Given the description of an element on the screen output the (x, y) to click on. 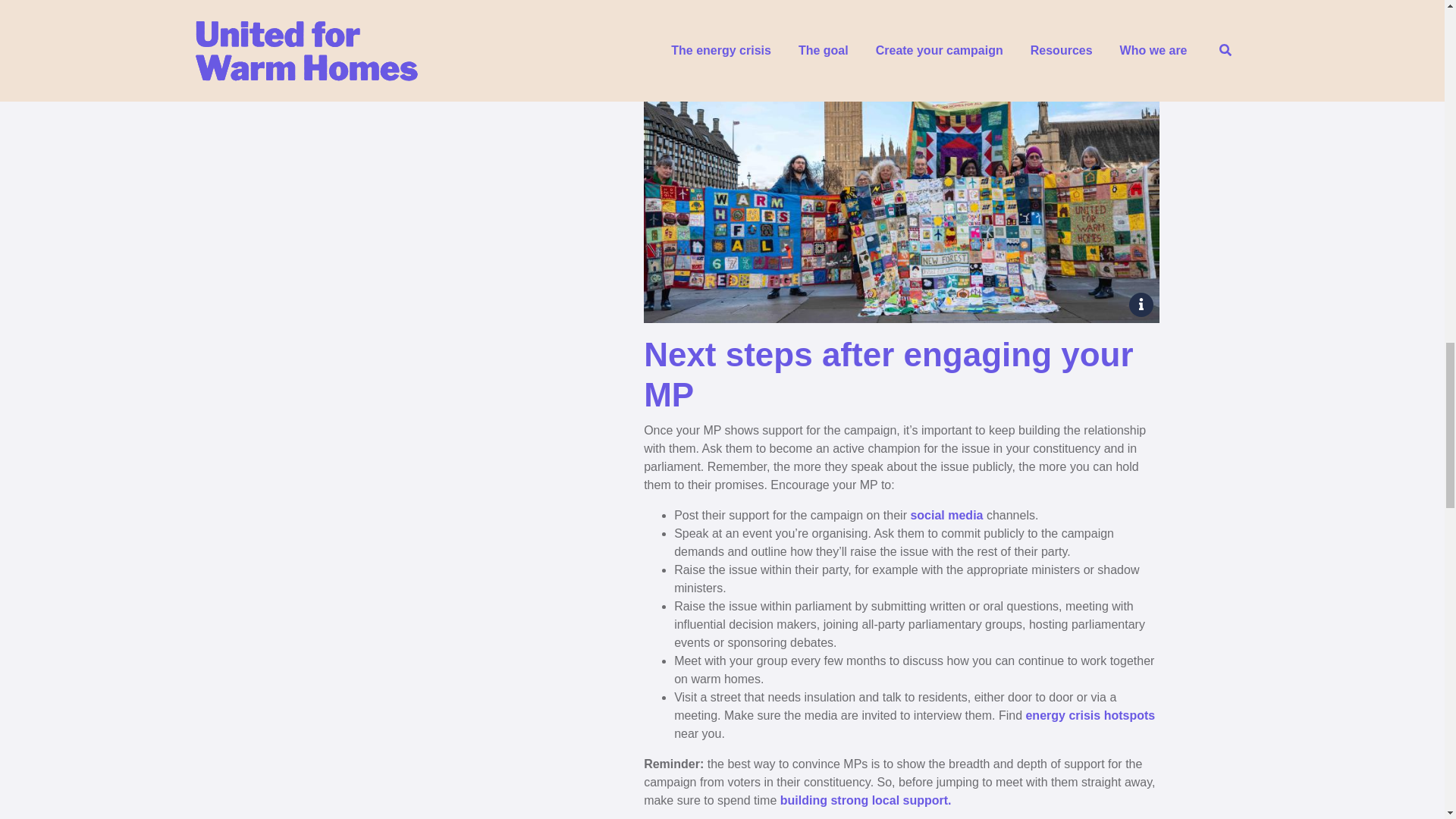
energy crisis hotspots (1089, 715)
social media (946, 514)
The energy crisis (1089, 715)
building strong local support.  (867, 799)
